Given the description of an element on the screen output the (x, y) to click on. 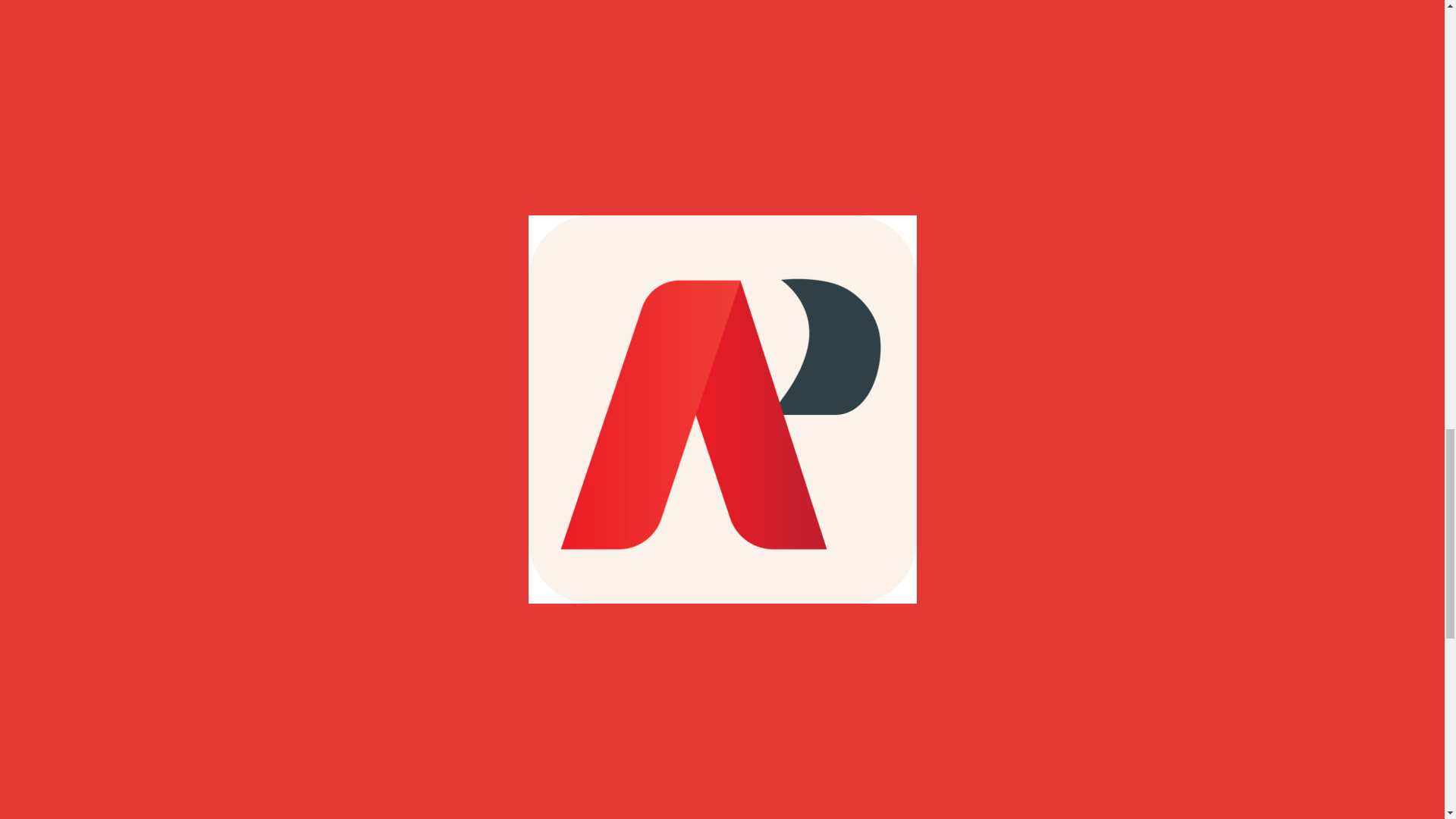
Post Comment (327, 746)
Kwale (392, 187)
Mwanaisha Chidzuga (471, 187)
NACADA (559, 187)
Illicit brew (338, 187)
